Given the description of an element on the screen output the (x, y) to click on. 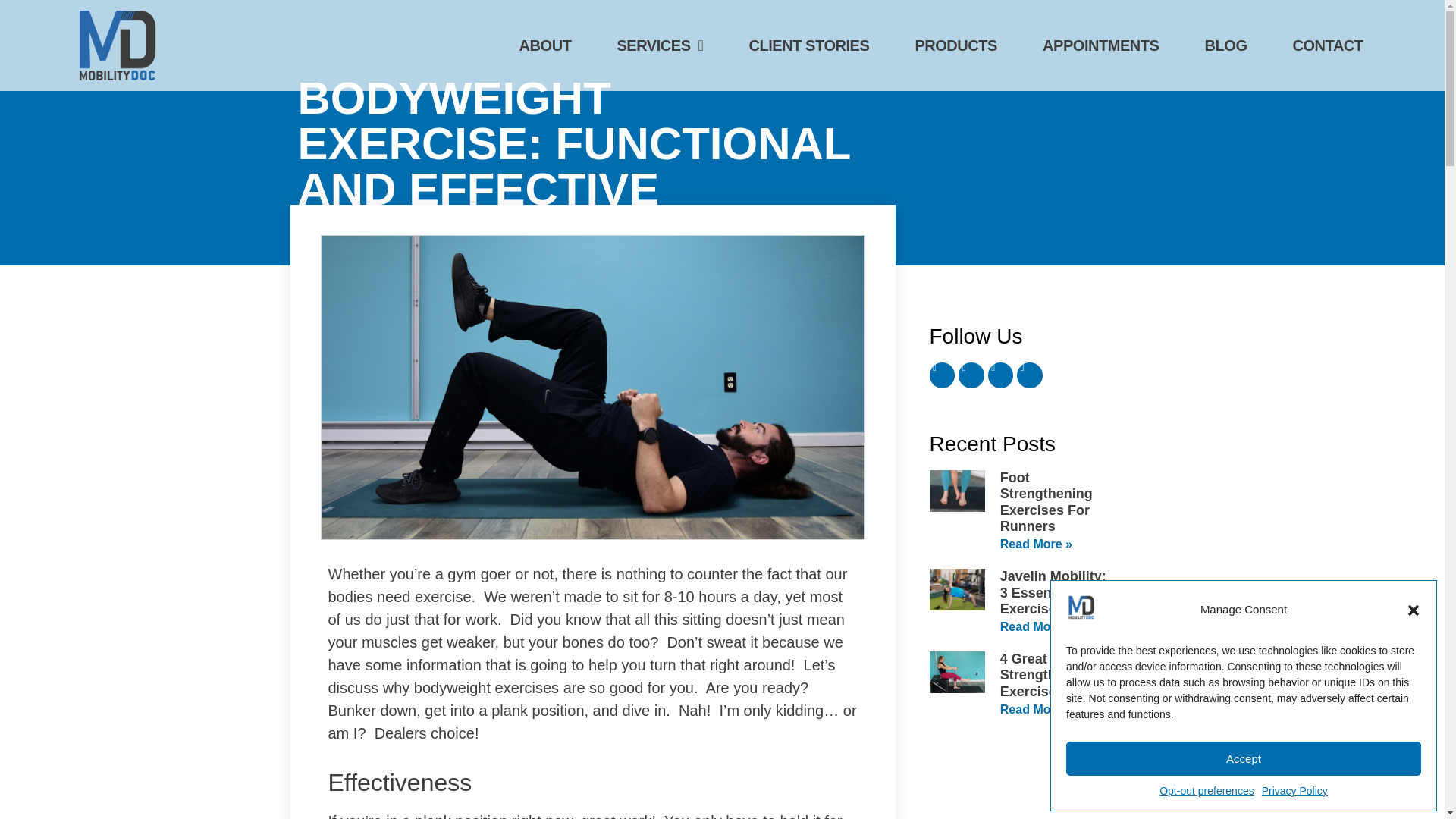
ABOUT (545, 6)
PRODUCTS (955, 18)
Accept (1243, 758)
CLIENT STORIES (808, 16)
APPOINTMENTS (1101, 20)
SERVICES (659, 7)
BLOG (1225, 23)
CONTACT (1327, 24)
Privacy Policy (1294, 790)
Opt-out preferences (1205, 790)
